Given the description of an element on the screen output the (x, y) to click on. 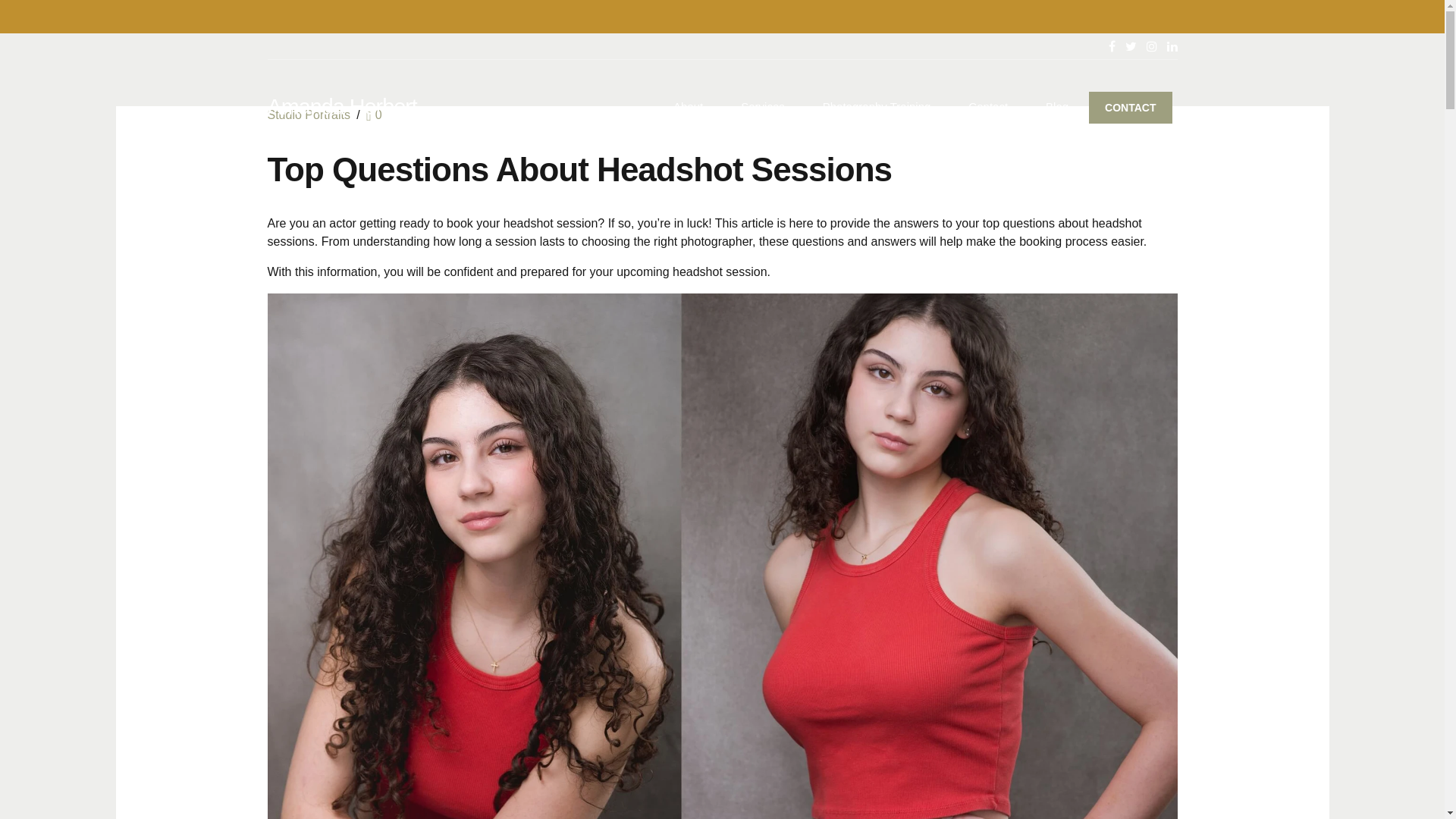
Blog (1056, 107)
Amanda Herbert (341, 106)
Studio Portraits (307, 114)
CONTACT (1130, 106)
0 (373, 114)
About (687, 107)
Photography Training (877, 107)
Services (762, 107)
Contact (988, 107)
